Given the description of an element on the screen output the (x, y) to click on. 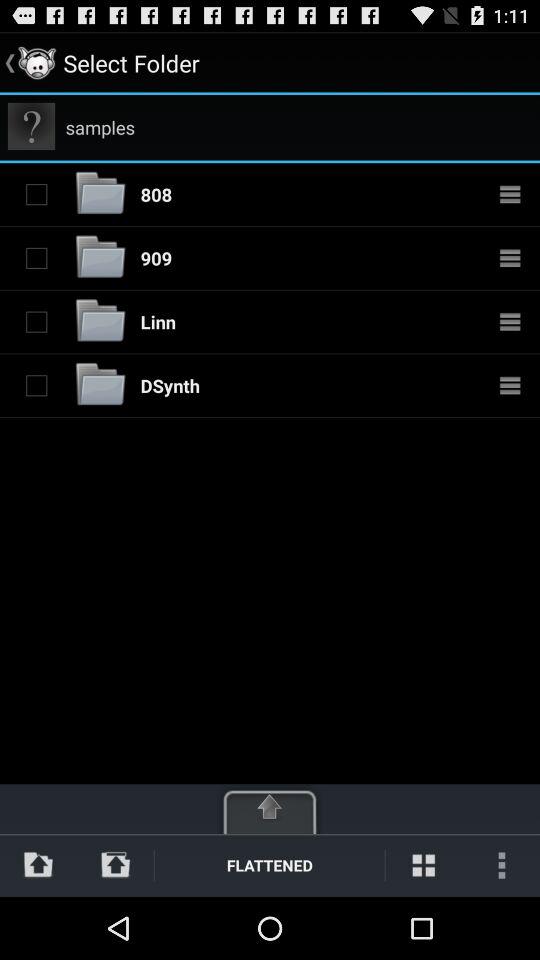
open flattened item (269, 864)
